Given the description of an element on the screen output the (x, y) to click on. 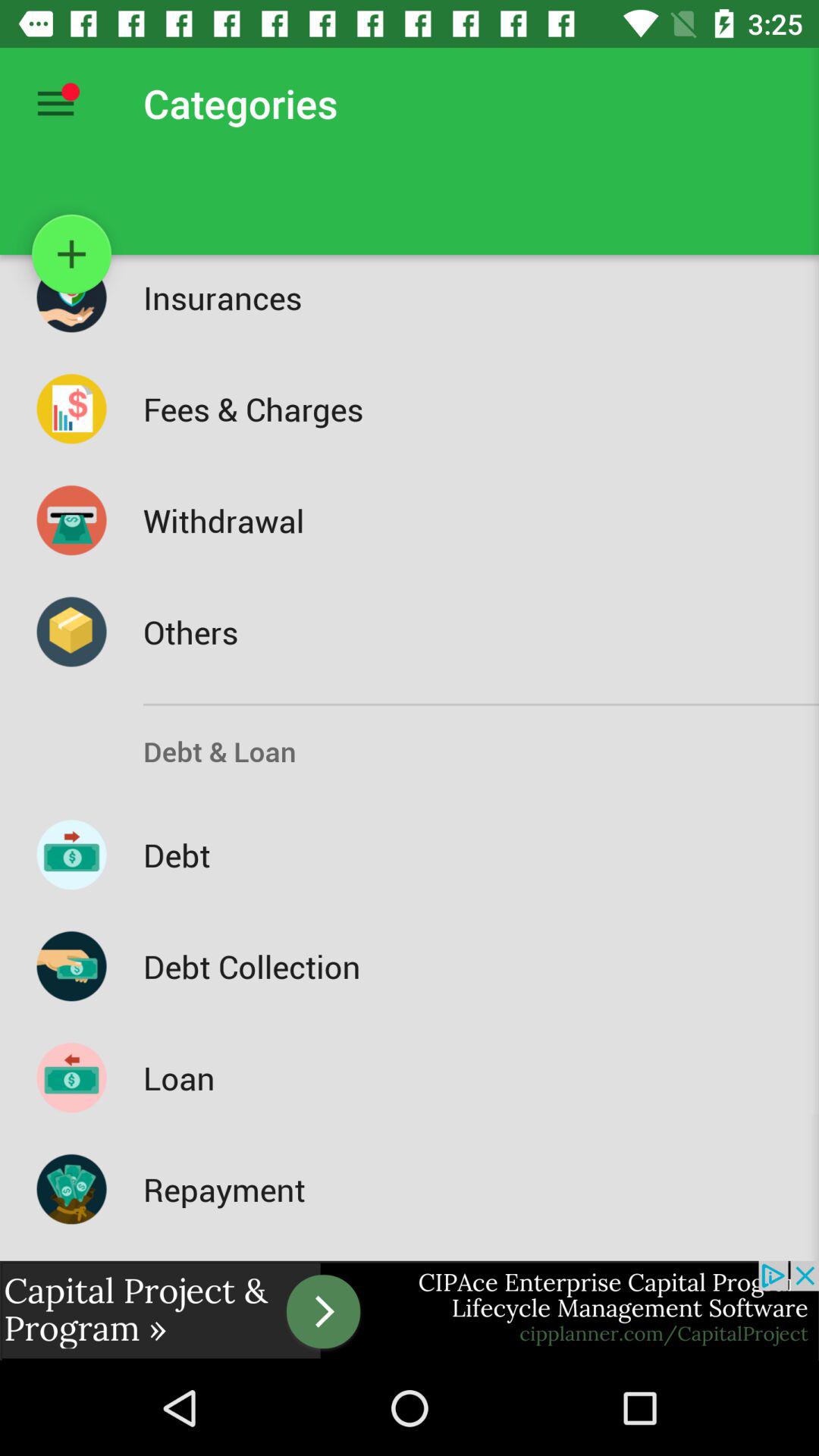
go to advertisement page (409, 1310)
